Given the description of an element on the screen output the (x, y) to click on. 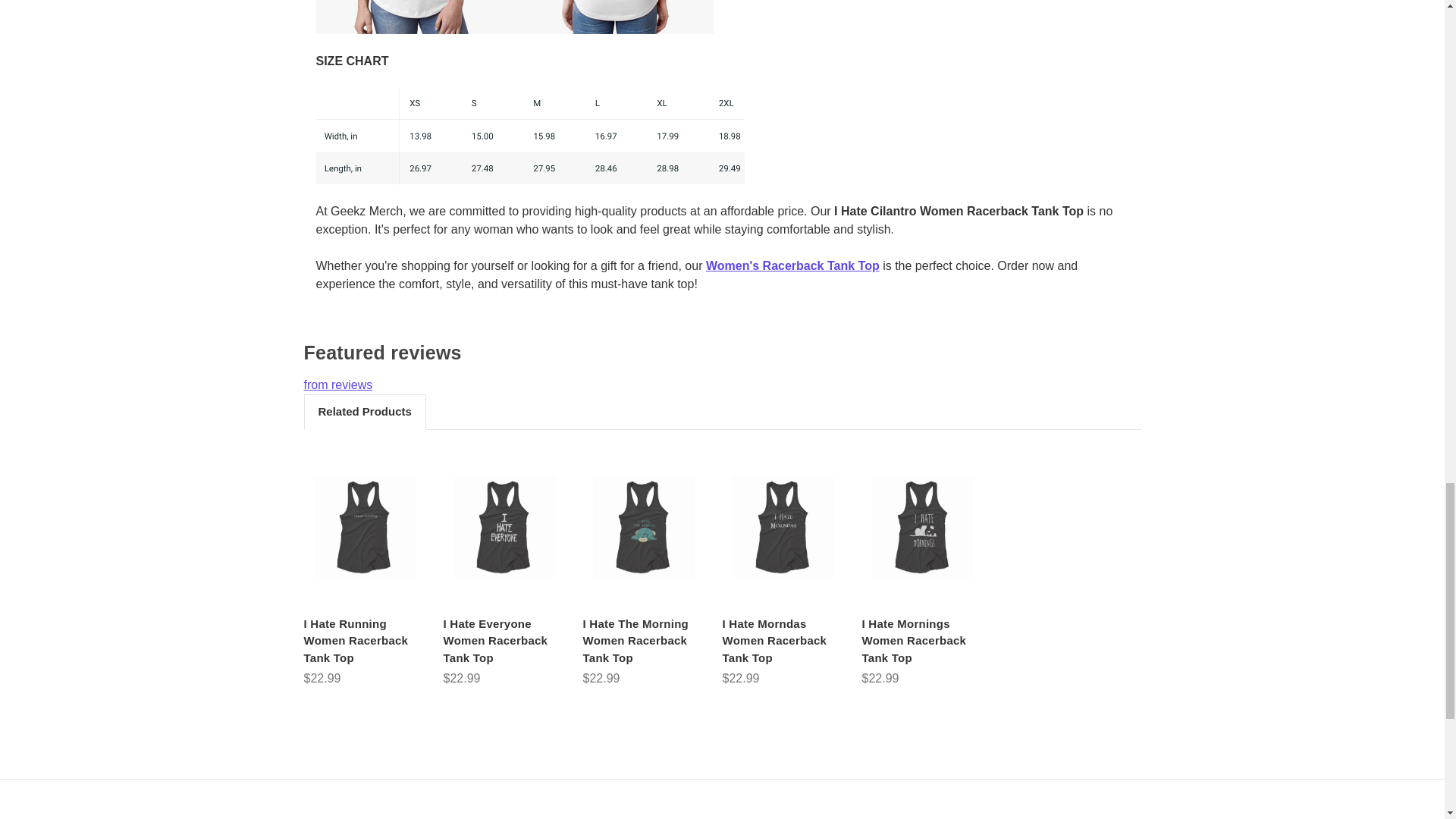
Women's Racerback Tank Top (792, 265)
Women's Racerback Tank Top (792, 265)
I Hate Running Women Racerback Tank Top (364, 526)
I Hate Everyone Women Racerback Tank Top (503, 641)
I Hate Running Women Racerback Tank Top (363, 641)
from reviews (721, 385)
Related Products (364, 411)
I Hate Everyone Women Racerback Tank Top (503, 526)
I Hate Morndas Women Racerback Tank Top (783, 526)
I Hate The Morning Women Racerback Tank Top (643, 526)
